Given the description of an element on the screen output the (x, y) to click on. 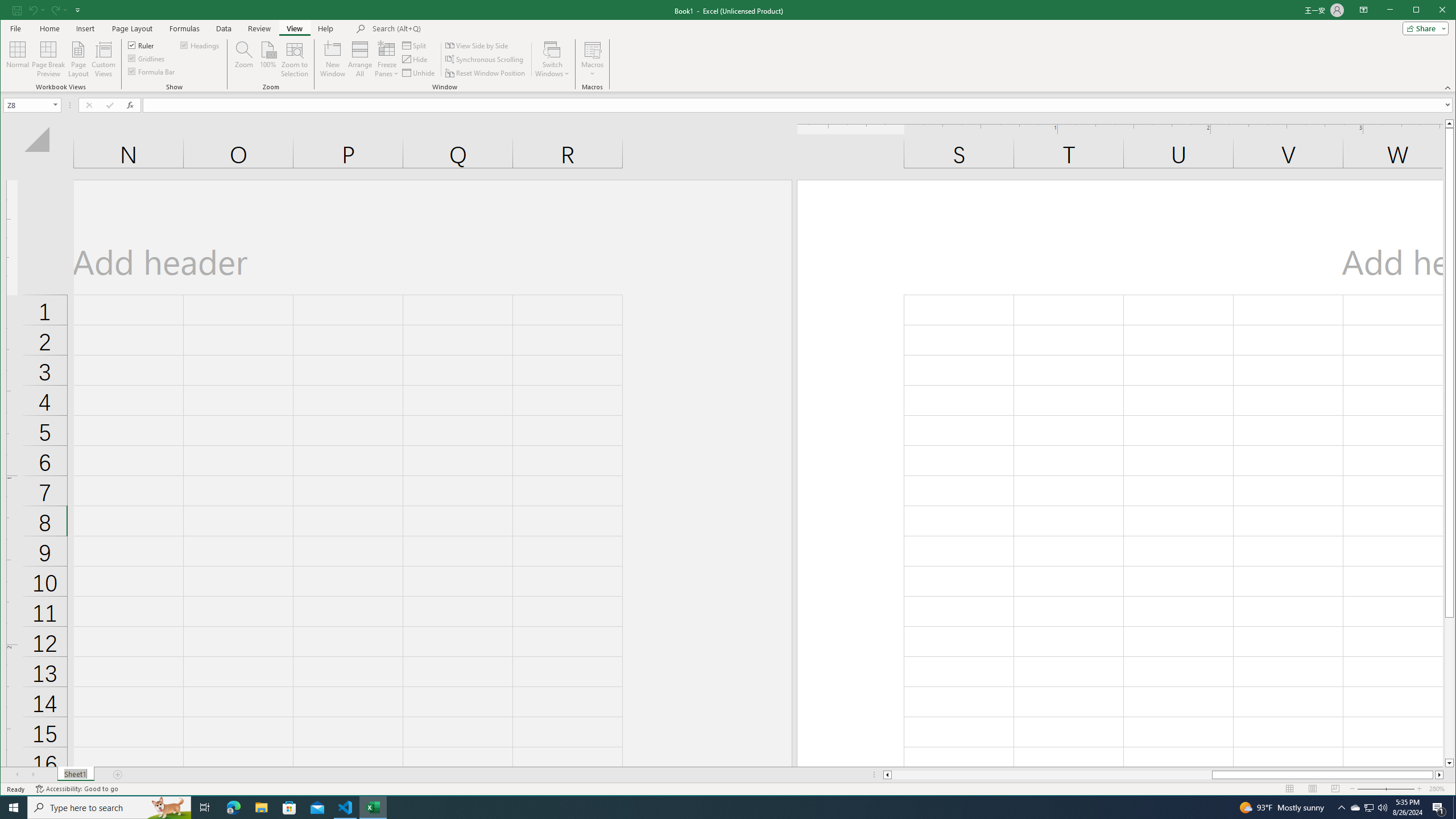
Quick Access Toolbar (46, 9)
Ruler (141, 44)
Maximize (1432, 11)
Redo (55, 9)
Ribbon Display Options (1364, 9)
View (294, 28)
Synchronous Scrolling (485, 59)
More Options (592, 69)
Running applications (717, 807)
Help (325, 28)
Undo (36, 9)
Class: MsoCommandBar (728, 45)
Redo (58, 9)
Arrange All (360, 59)
File Tab (15, 27)
